Given the description of an element on the screen output the (x, y) to click on. 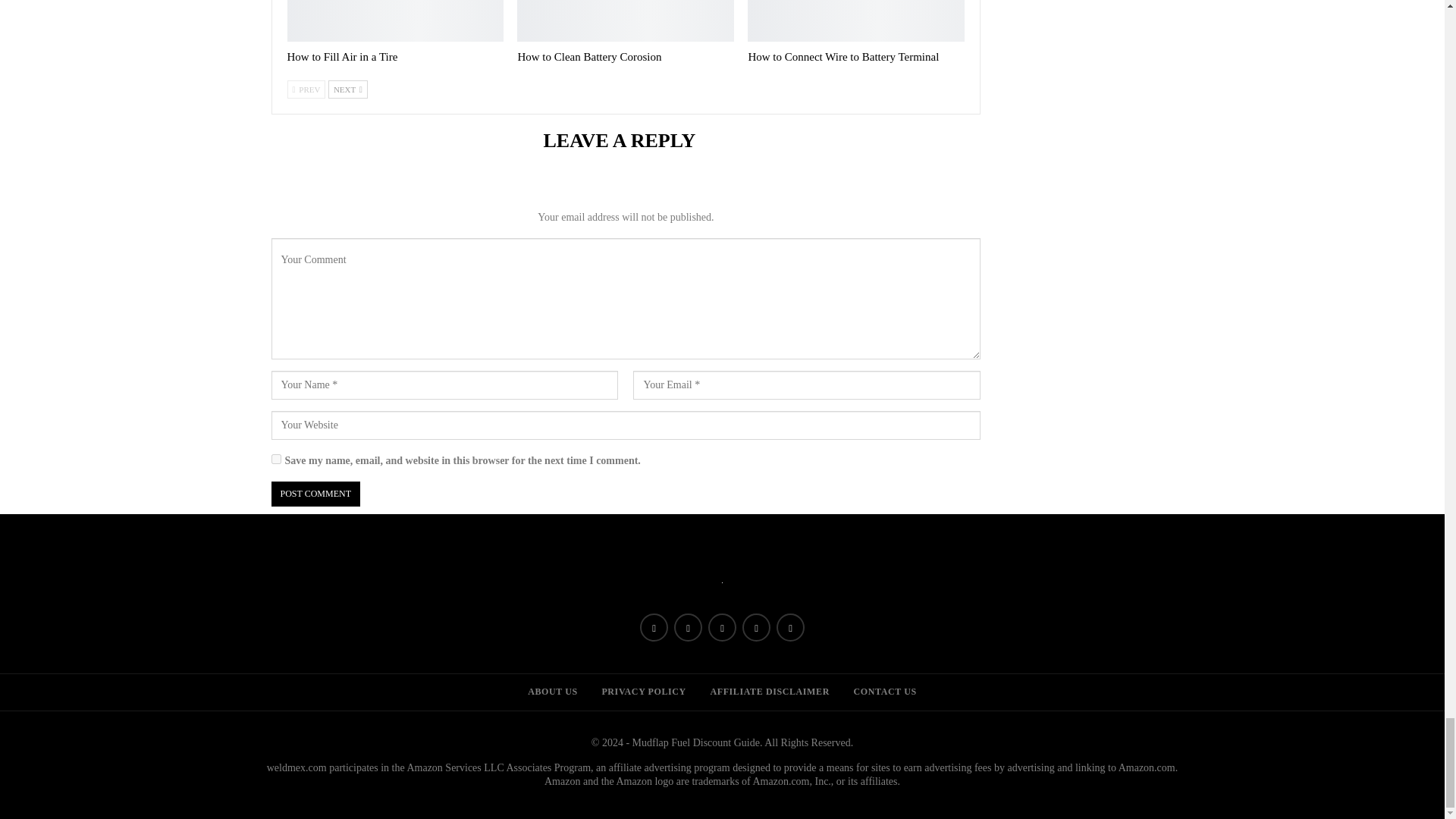
How to Connect Wire to Battery Terminal (843, 56)
yes (275, 459)
How to Clean Battery Corosion (588, 56)
How to Connect Wire to Battery Terminal (855, 20)
How to Clean Battery Corosion (624, 20)
How to Fill Air in a Tire (394, 20)
How to Fill Air in a Tire (341, 56)
Post Comment (314, 493)
